Given the description of an element on the screen output the (x, y) to click on. 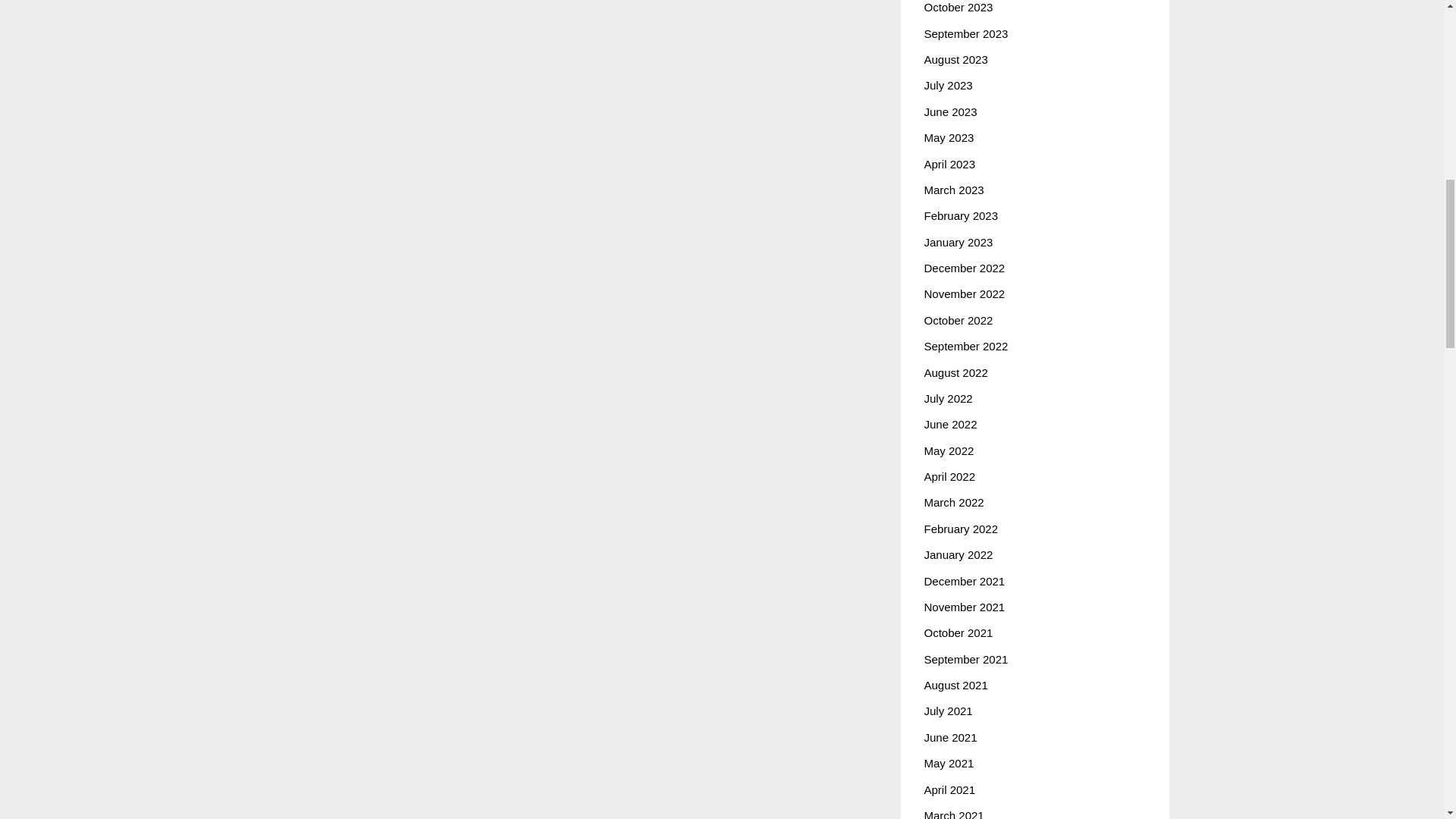
July 2023 (947, 84)
August 2023 (955, 59)
September 2023 (965, 33)
June 2023 (949, 111)
October 2023 (957, 6)
October 2022 (957, 319)
April 2023 (949, 164)
February 2023 (960, 215)
March 2023 (953, 189)
January 2023 (957, 241)
December 2022 (963, 267)
November 2022 (963, 293)
May 2023 (948, 137)
